Given the description of an element on the screen output the (x, y) to click on. 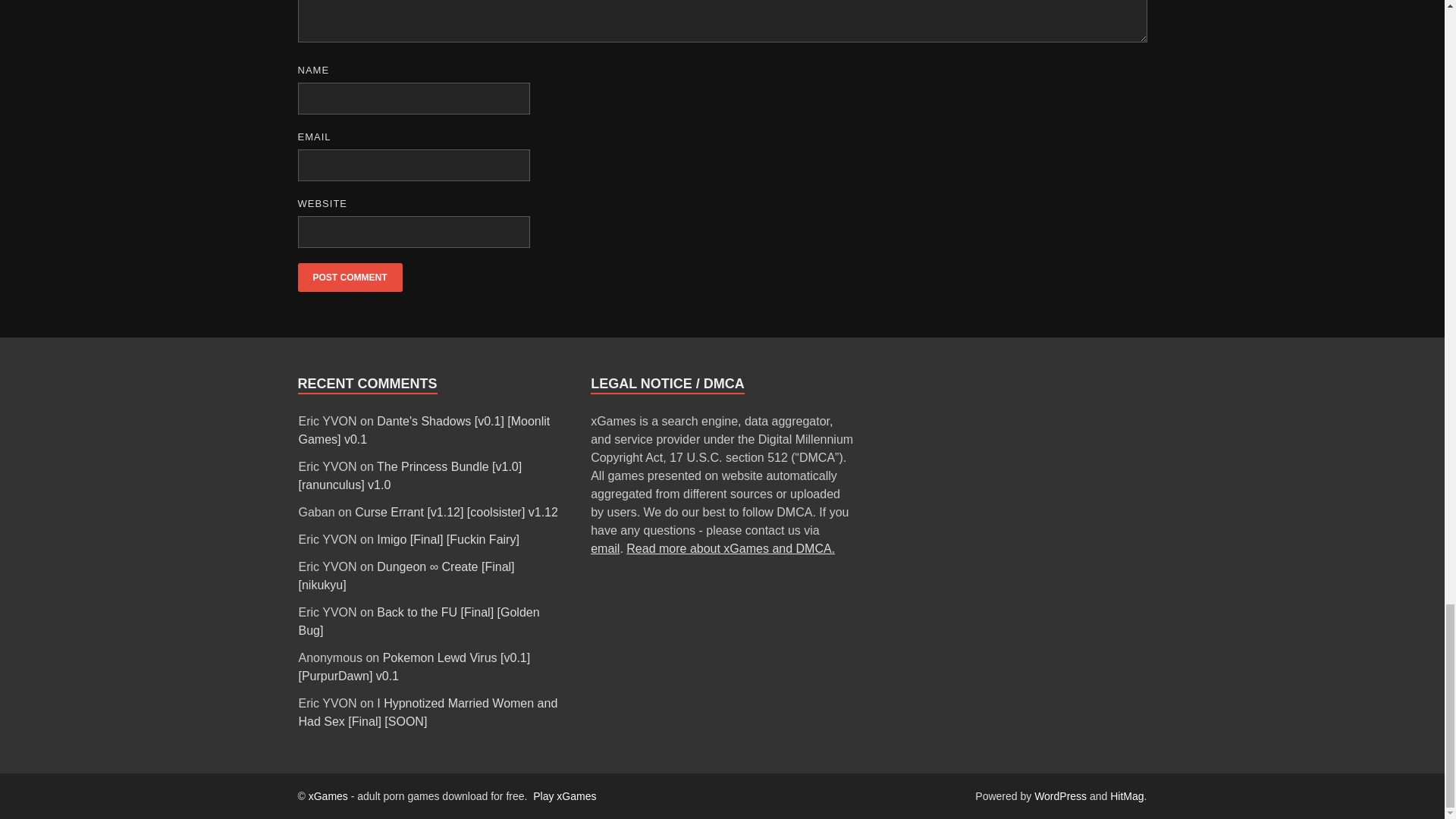
HitMag WordPress Theme (1125, 796)
WordPress (1059, 796)
xGames (327, 796)
Post Comment (349, 276)
